Given the description of an element on the screen output the (x, y) to click on. 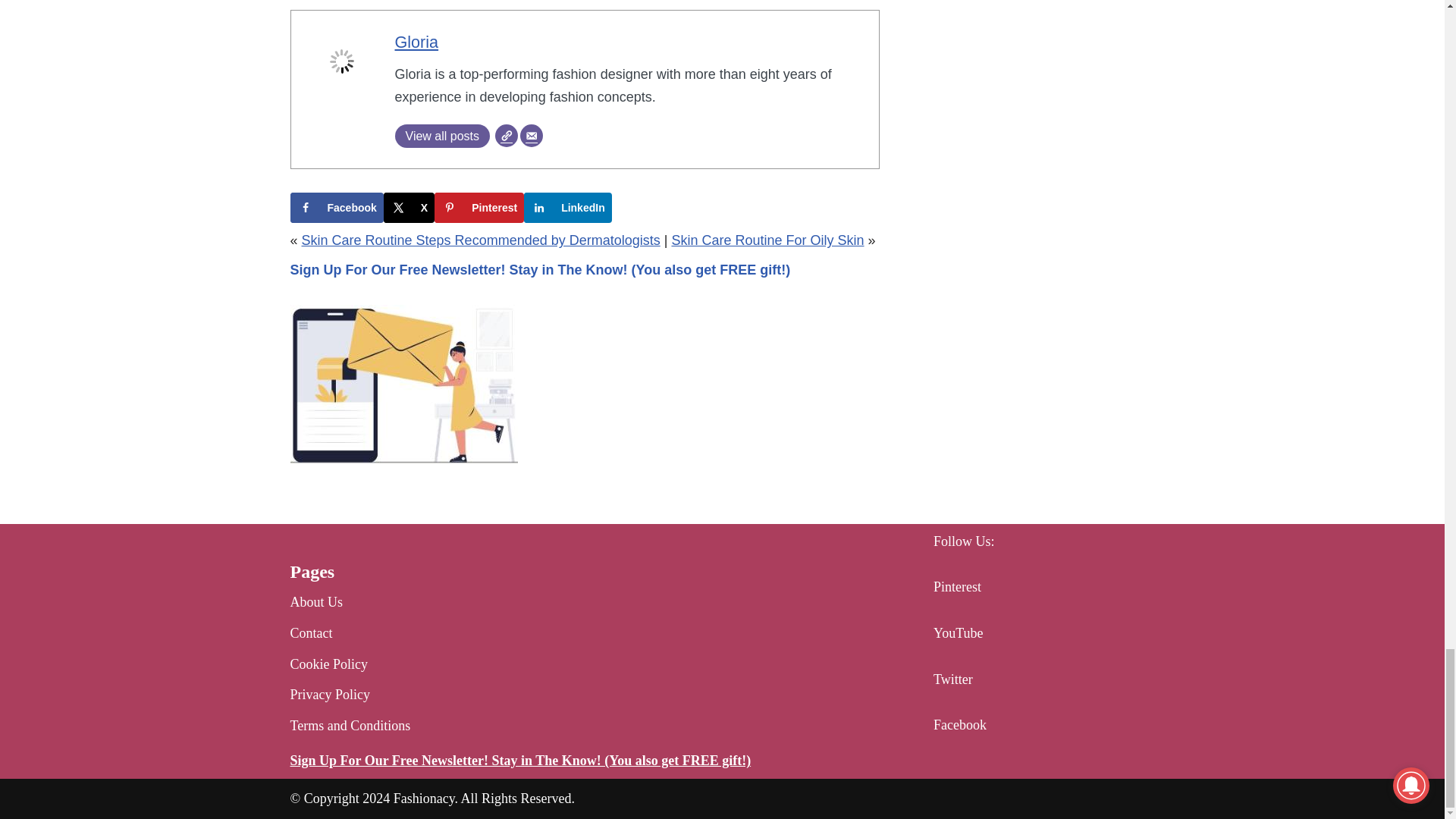
Gloria (416, 41)
Share on X (408, 207)
View all posts (441, 136)
Share on Facebook (335, 207)
